Given the description of an element on the screen output the (x, y) to click on. 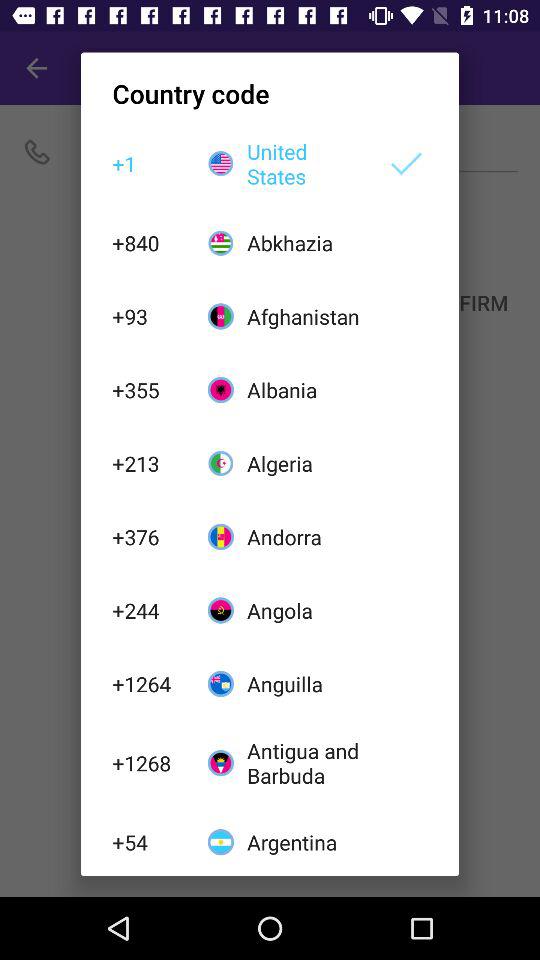
press the +244 (149, 610)
